Given the description of an element on the screen output the (x, y) to click on. 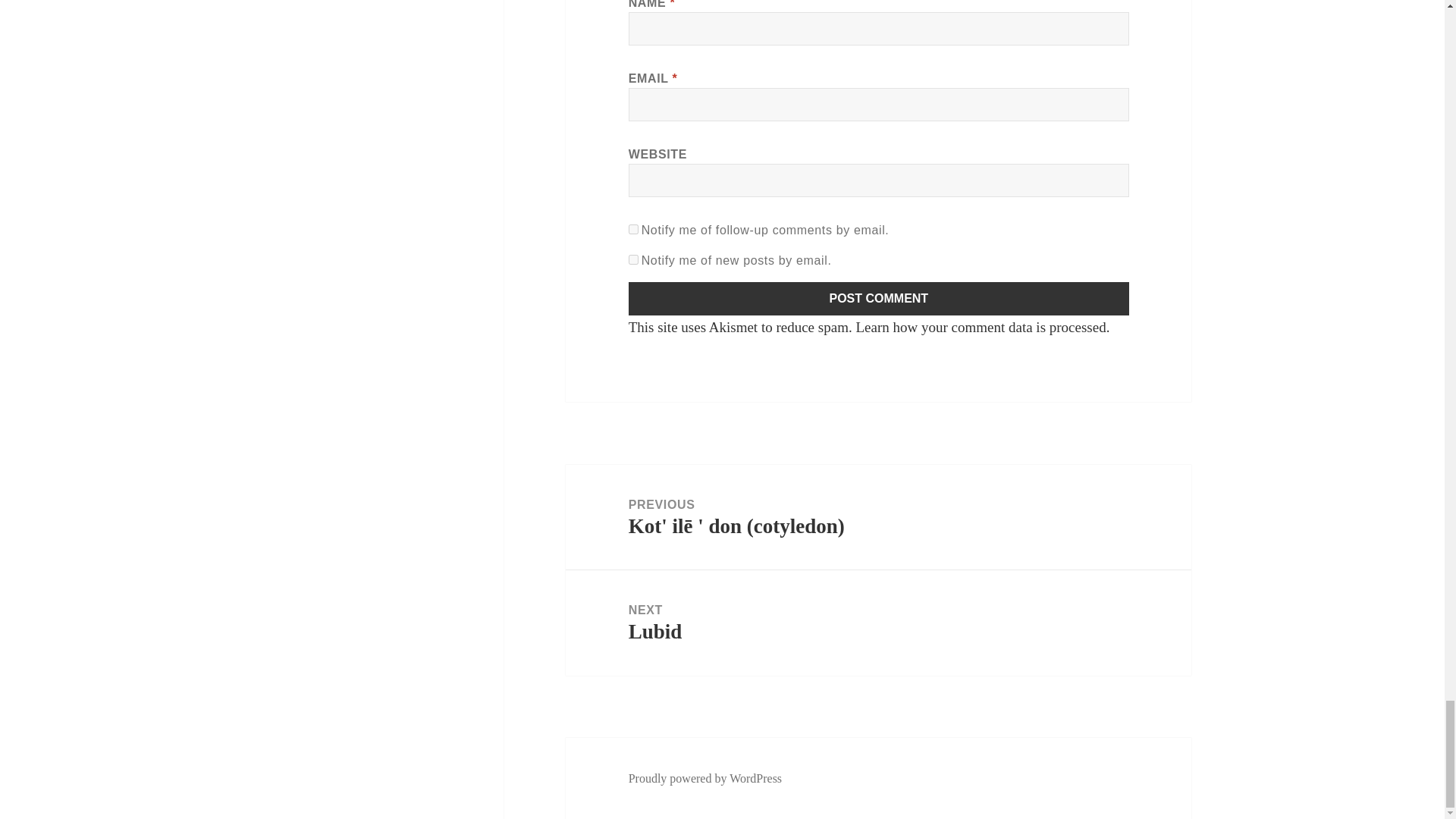
Proudly powered by WordPress (704, 778)
Learn how your comment data is processed (878, 622)
Post Comment (980, 326)
subscribe (878, 298)
Post Comment (633, 229)
subscribe (878, 298)
